Given the description of an element on the screen output the (x, y) to click on. 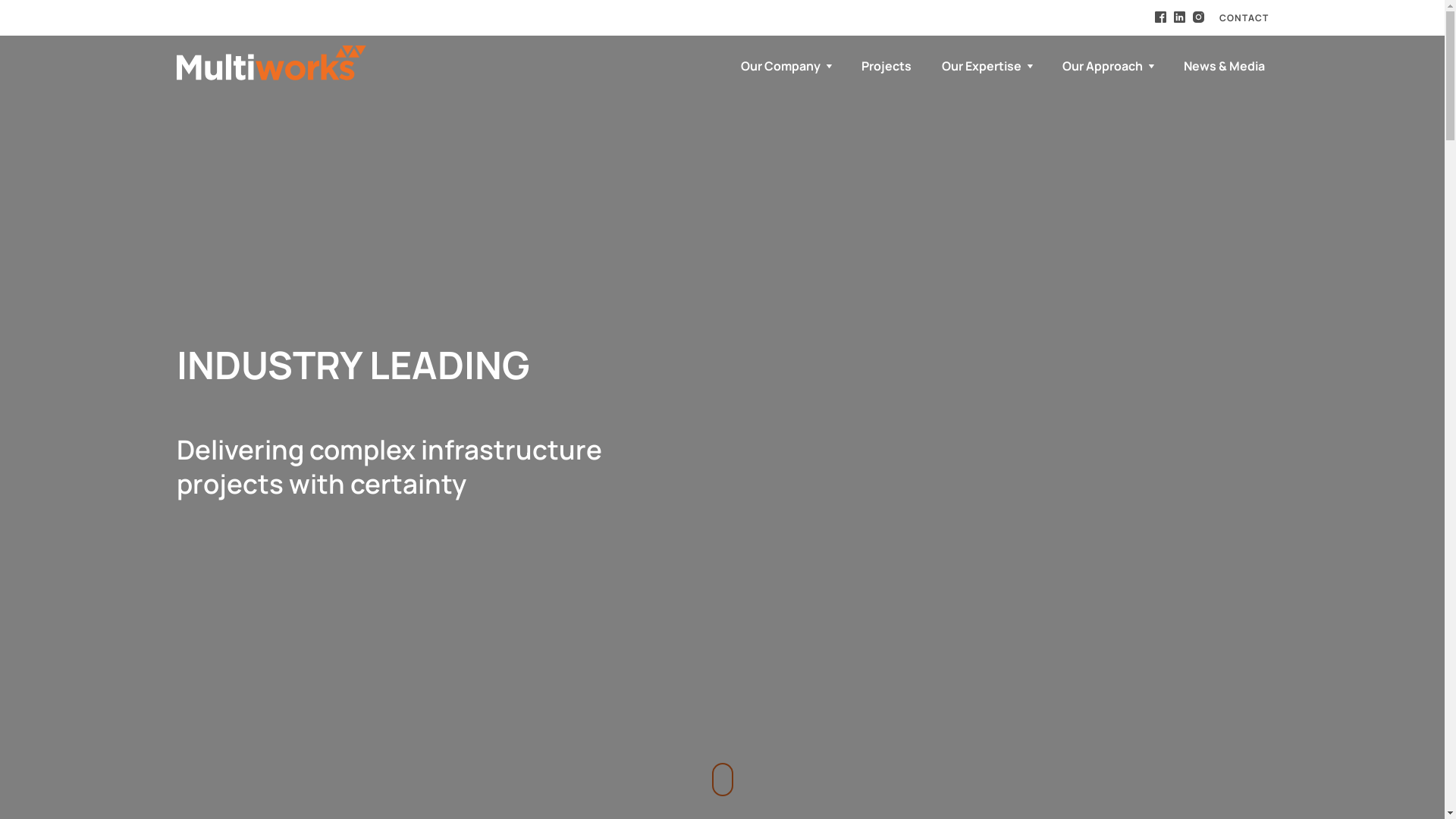
Oil & Gas Element type: text (171, 597)
Defence Element type: text (171, 620)
Industrial & Manufacturing Element type: text (189, 654)
Rail & Transport Element type: text (174, 563)
Electricity Element type: text (175, 506)
Our Accreditation & Affiliations Element type: text (340, 620)
Projects Element type: text (885, 65)
News & Media Element type: text (1218, 65)
Water Element type: text (164, 529)
CONTACT Element type: text (1243, 17)
Community Element type: text (334, 757)
Our Commitment Element type: text (339, 450)
REAL. EVERYDAY. DANGERS. Element type: text (331, 507)
Asbestos & Environmental Remediation Element type: text (188, 757)
NEWS & MEDIA Element type: text (430, 64)
Environment & Sustainability Element type: text (340, 711)
Our Safety Initiatives Element type: text (332, 563)
